Given the description of an element on the screen output the (x, y) to click on. 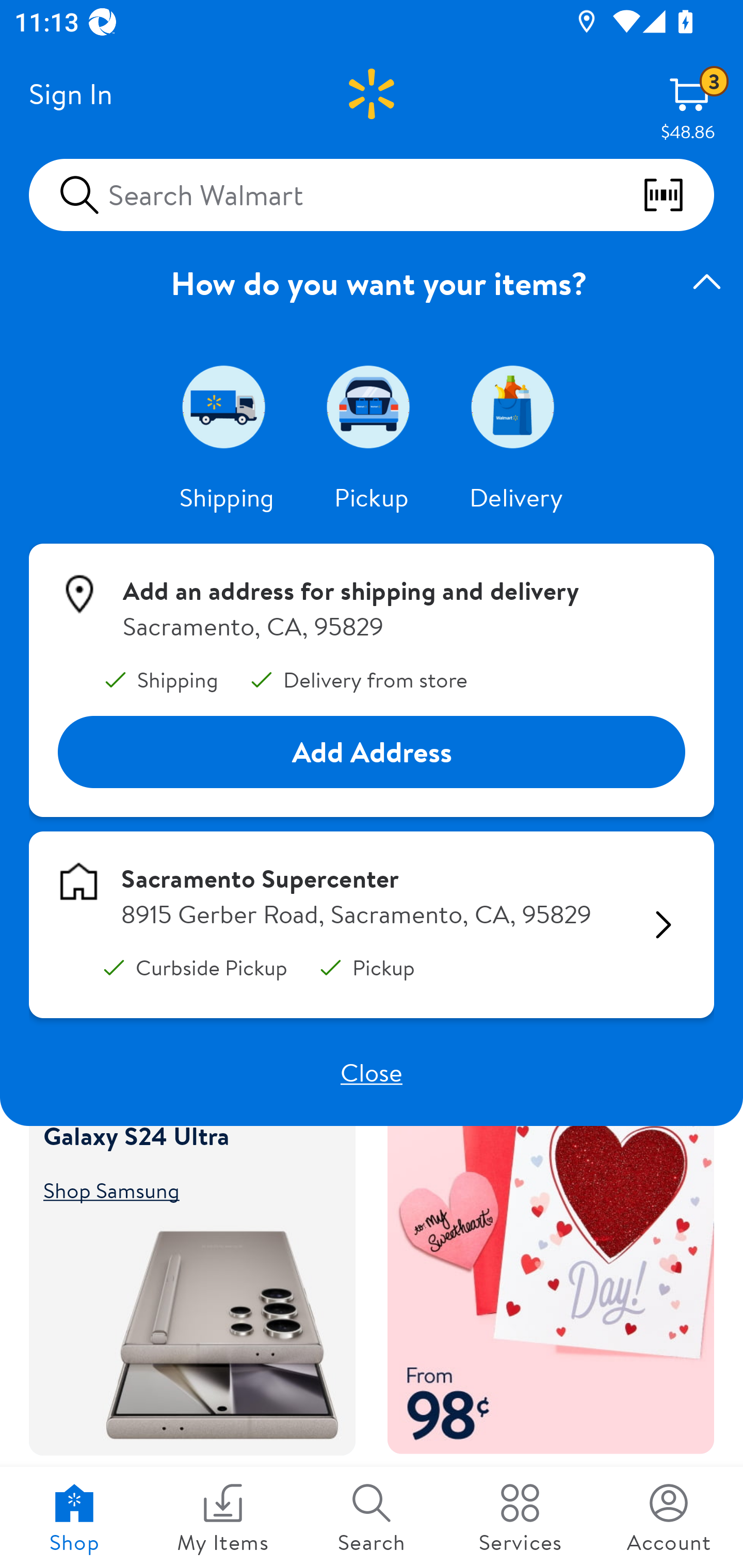
Sign In (70, 93)
Search Walmart scan barcodes qr codes and more (371, 194)
scan barcodes qr codes and more (677, 195)
How do you want your items? expanded (371, 282)
Shipping 1 of 3 (226, 406)
Pickup 2 of 3 (371, 406)
Delivery 3 of 3 (515, 406)
Add Address (371, 752)
Close (371, 1072)
Shop Samsung Shop Samsung Galaxy S24 Ultra (183, 1190)
My Items (222, 1517)
Search (371, 1517)
Services (519, 1517)
Account (668, 1517)
